Given the description of an element on the screen output the (x, y) to click on. 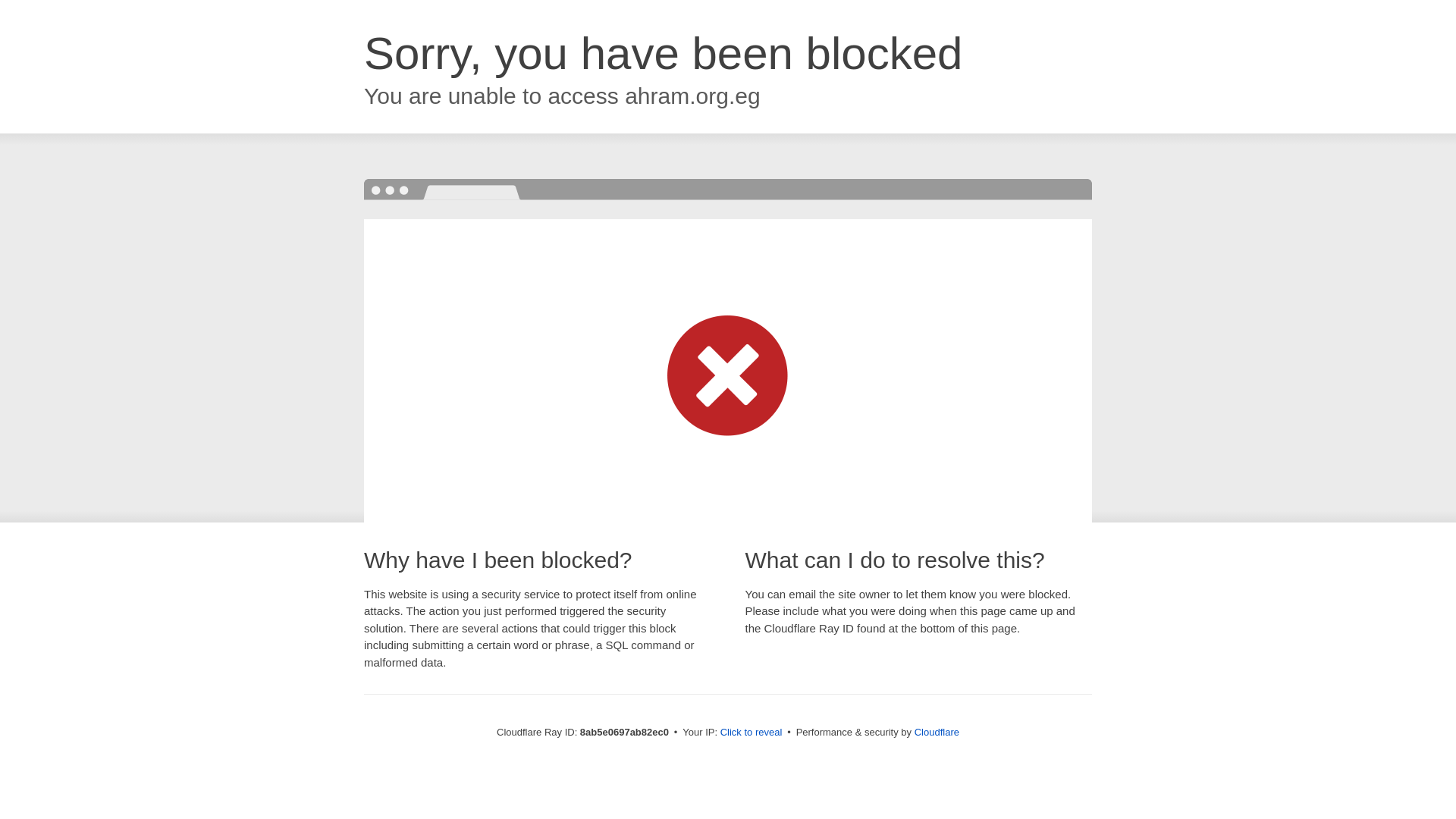
Click to reveal (751, 732)
Cloudflare (936, 731)
